Given the description of an element on the screen output the (x, y) to click on. 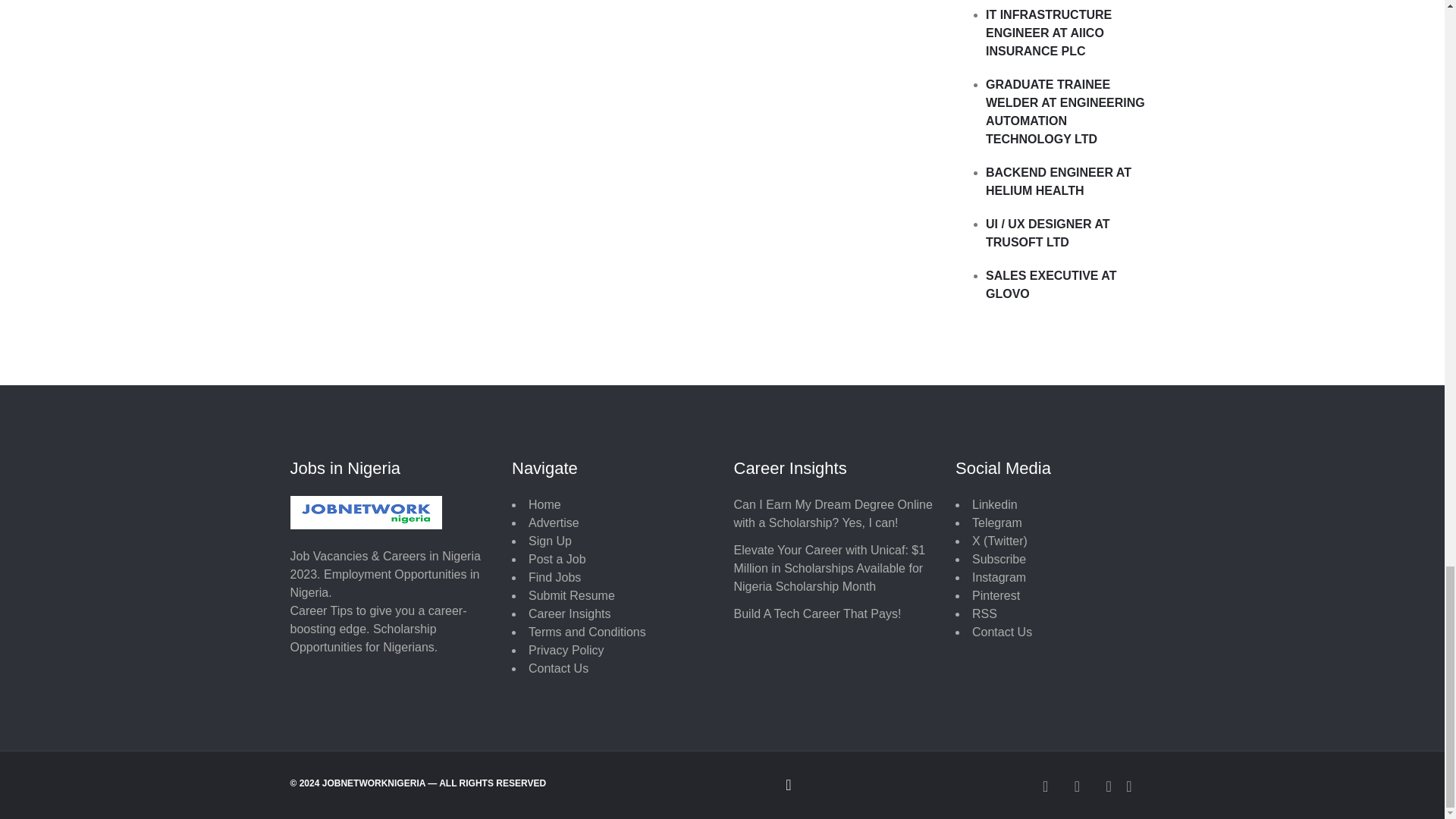
BACKEND ENGINEER AT HELIUM HEALTH (1058, 181)
IT INFRASTRUCTURE ENGINEER AT AIICO INSURANCE PLC (1048, 32)
SALES EXECUTIVE AT GLOVO (1050, 284)
